Given the description of an element on the screen output the (x, y) to click on. 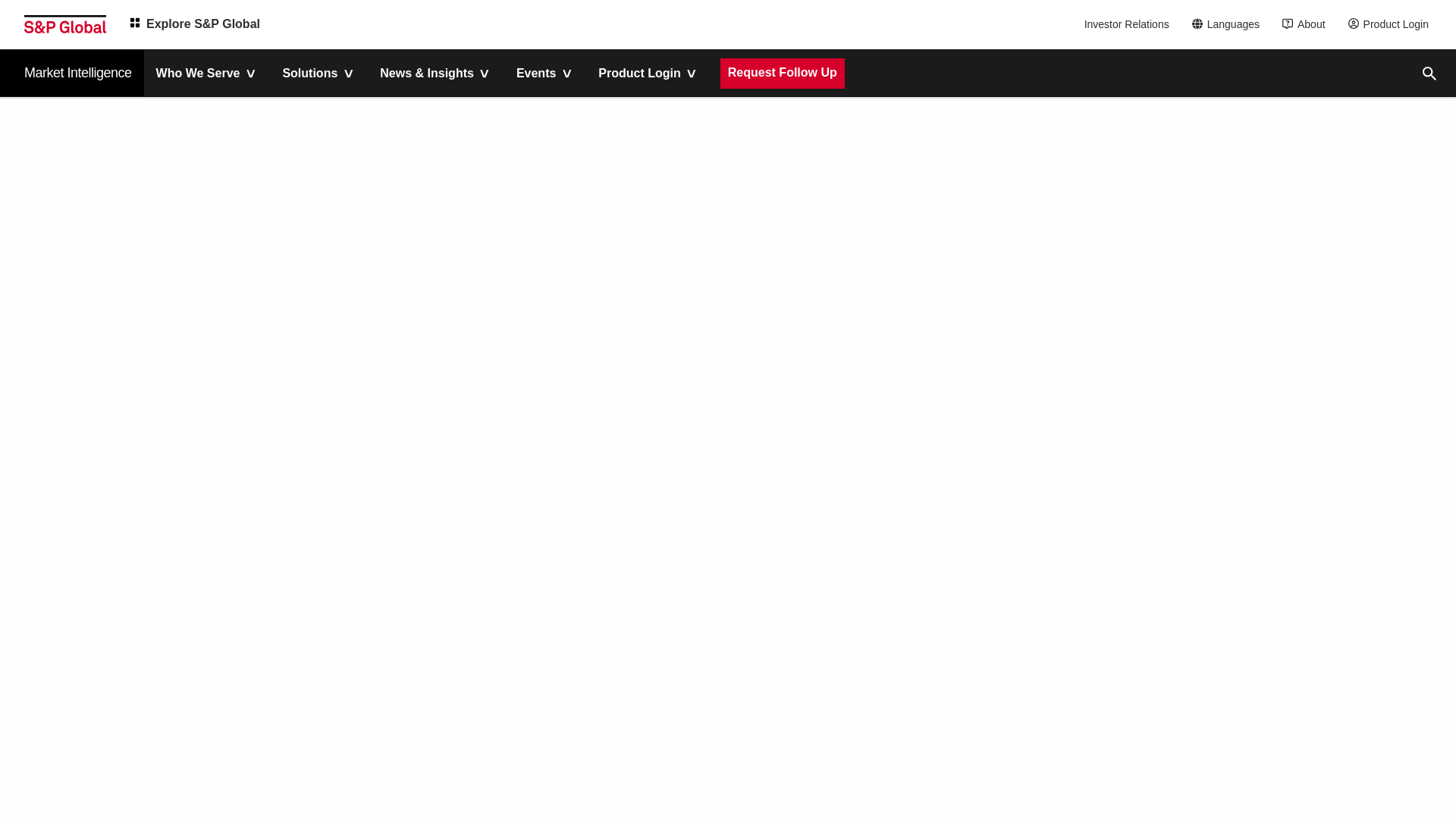
Product Login (1392, 24)
Investor Relations (1129, 24)
About (1307, 24)
Languages (1230, 24)
